Given the description of an element on the screen output the (x, y) to click on. 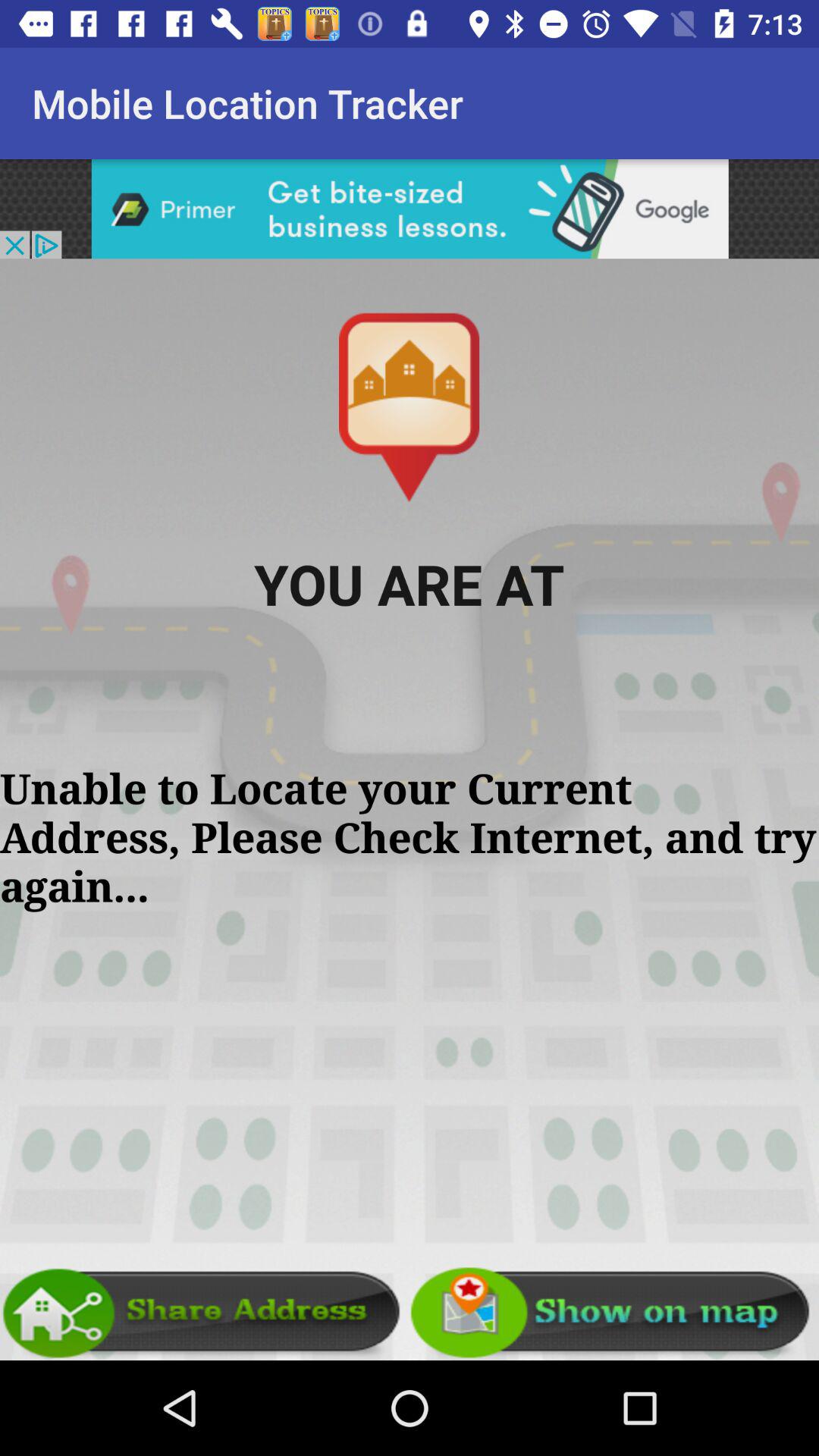
share address (204, 1312)
